Given the description of an element on the screen output the (x, y) to click on. 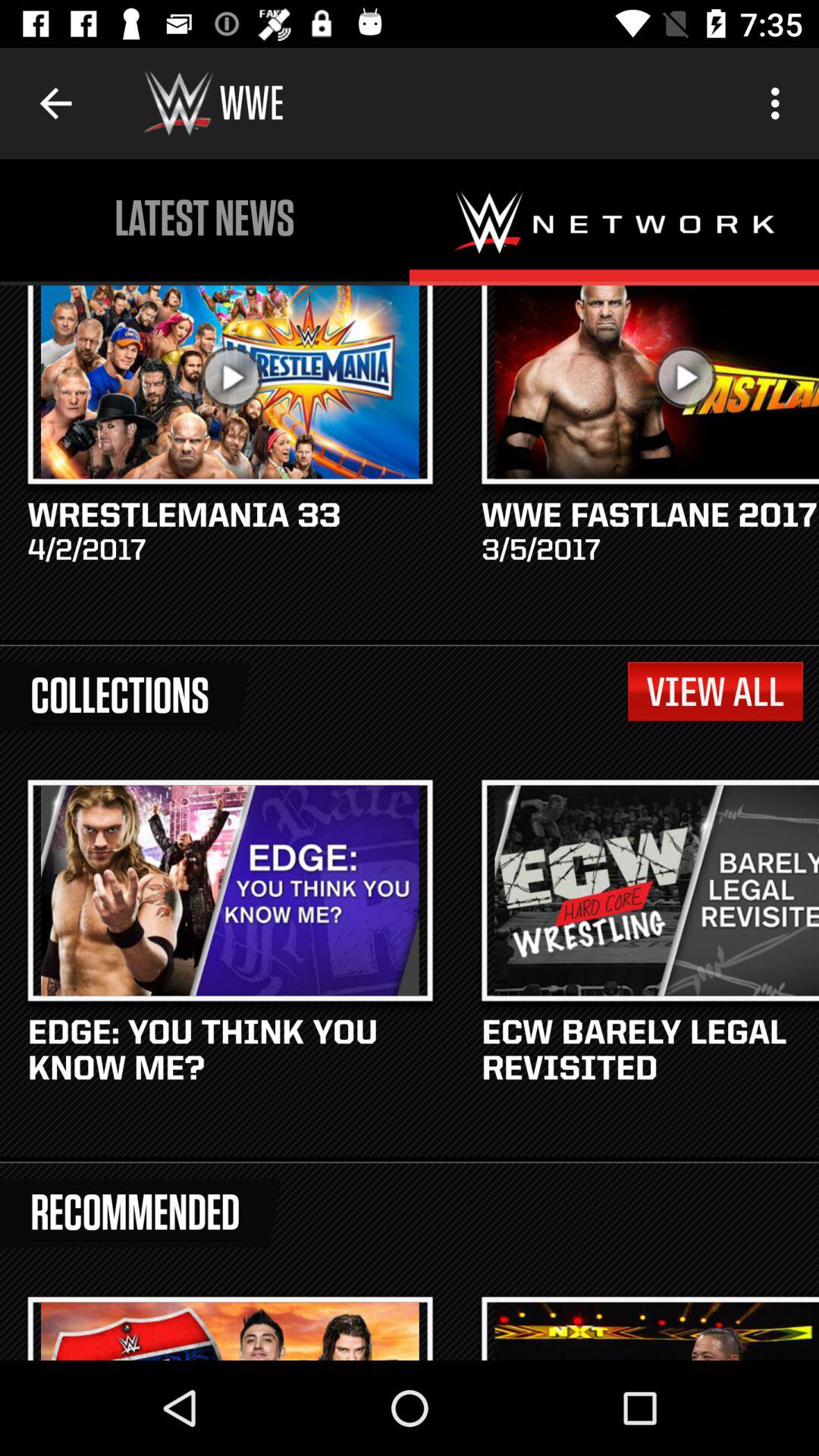
open new window (614, 222)
